Given the description of an element on the screen output the (x, y) to click on. 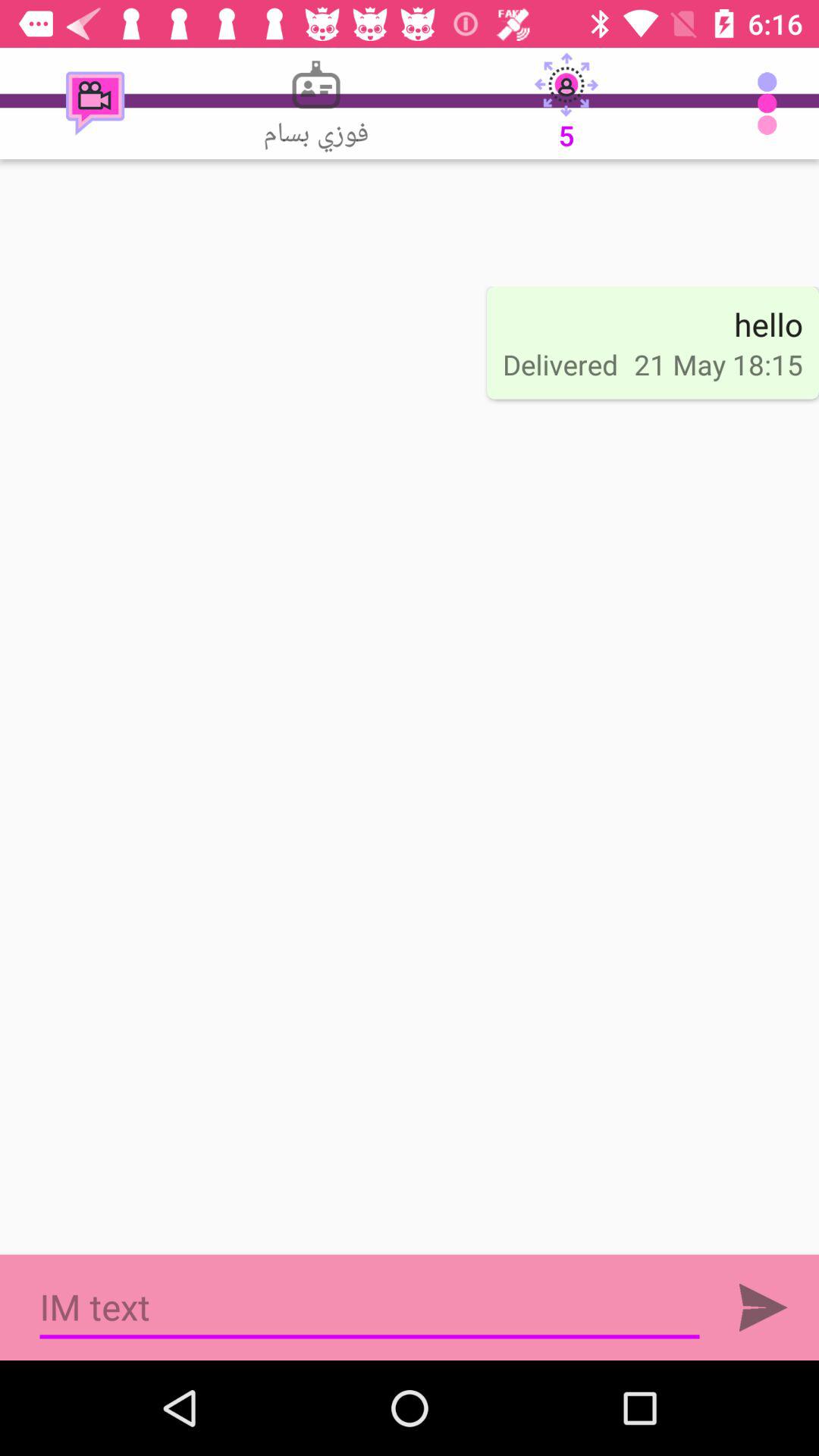
choose the item to the right of delivered icon (768, 323)
